Given the description of an element on the screen output the (x, y) to click on. 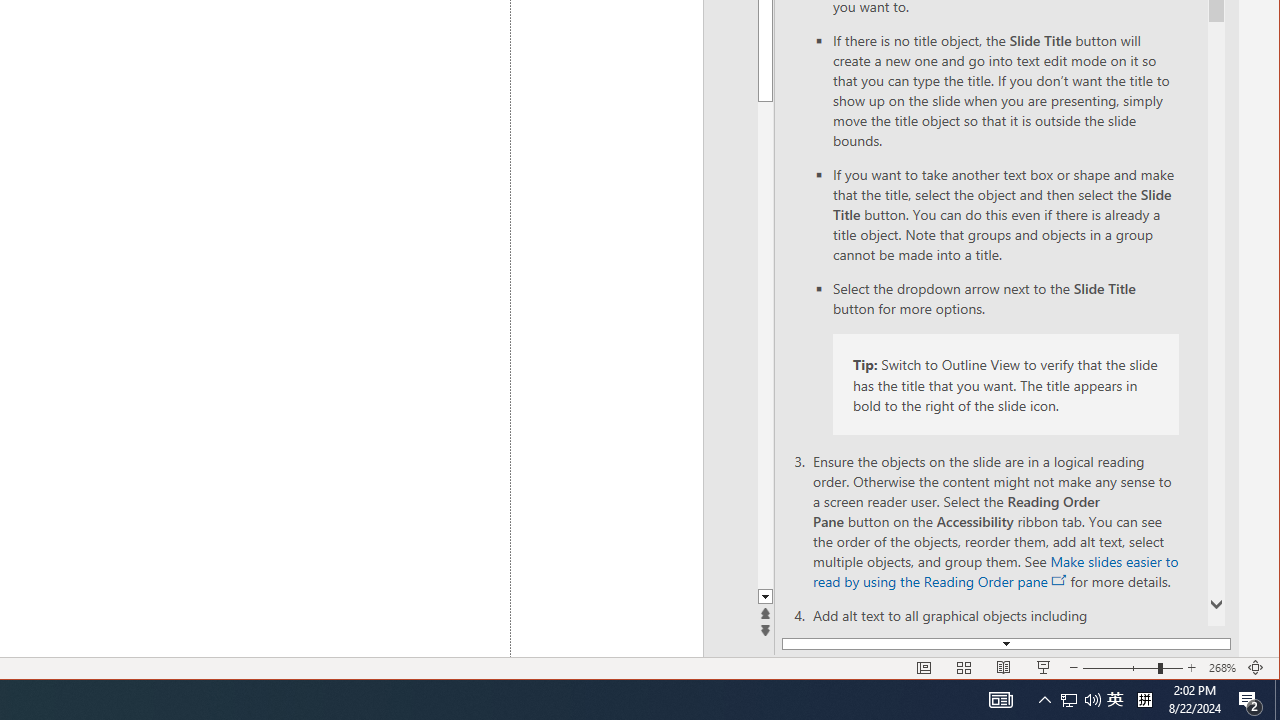
AutomationID: 4105 (1000, 699)
Tray Input Indicator - Chinese (Simplified, China) (1144, 699)
Page down (970, 345)
Show desktop (1277, 699)
openinnewwindow (1059, 580)
Zoom 268% (1222, 668)
